Given the description of an element on the screen output the (x, y) to click on. 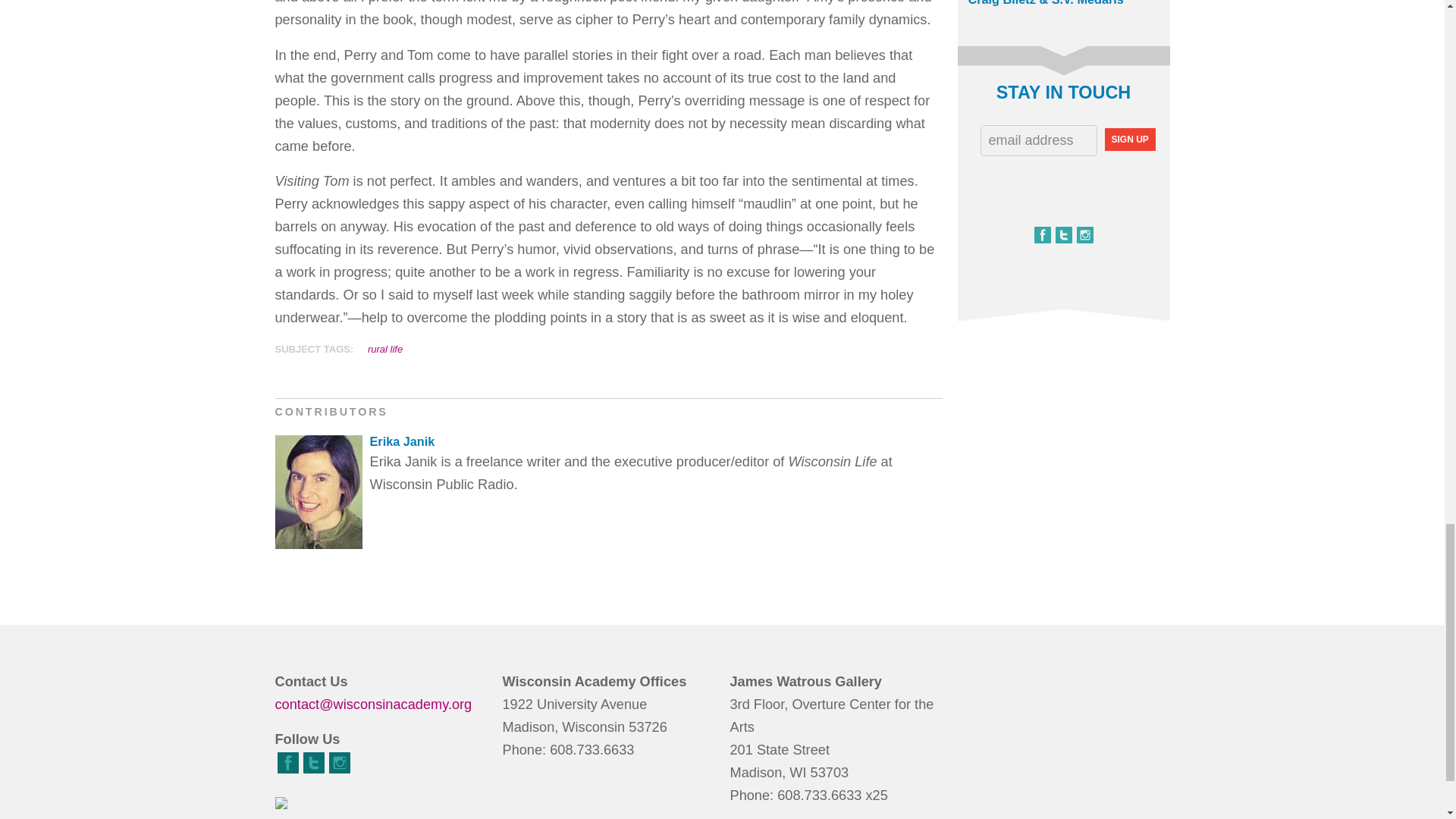
Sign Up (1128, 138)
